Given the description of an element on the screen output the (x, y) to click on. 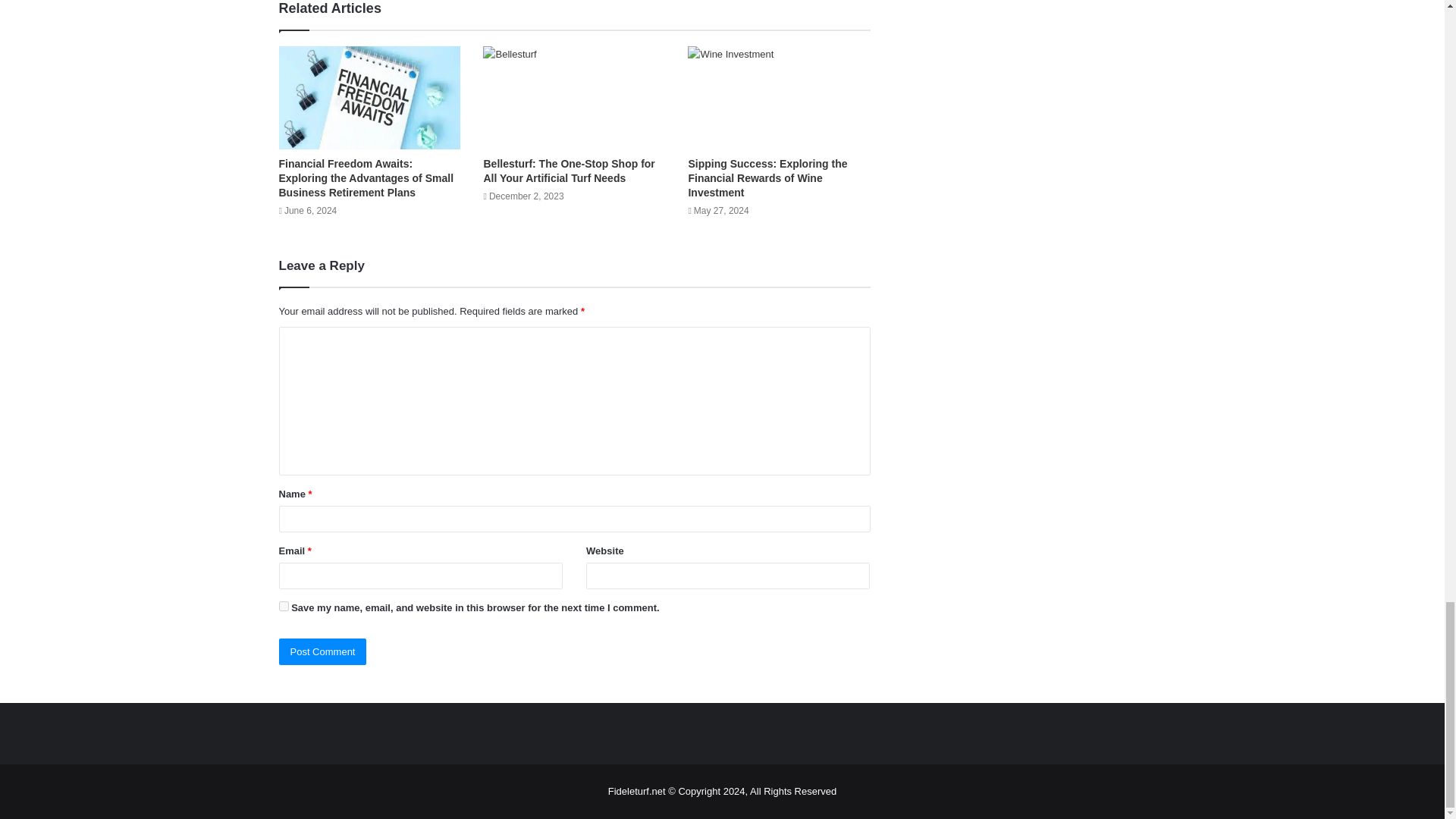
Post Comment (322, 651)
Post Comment (322, 651)
yes (283, 605)
